Given the description of an element on the screen output the (x, y) to click on. 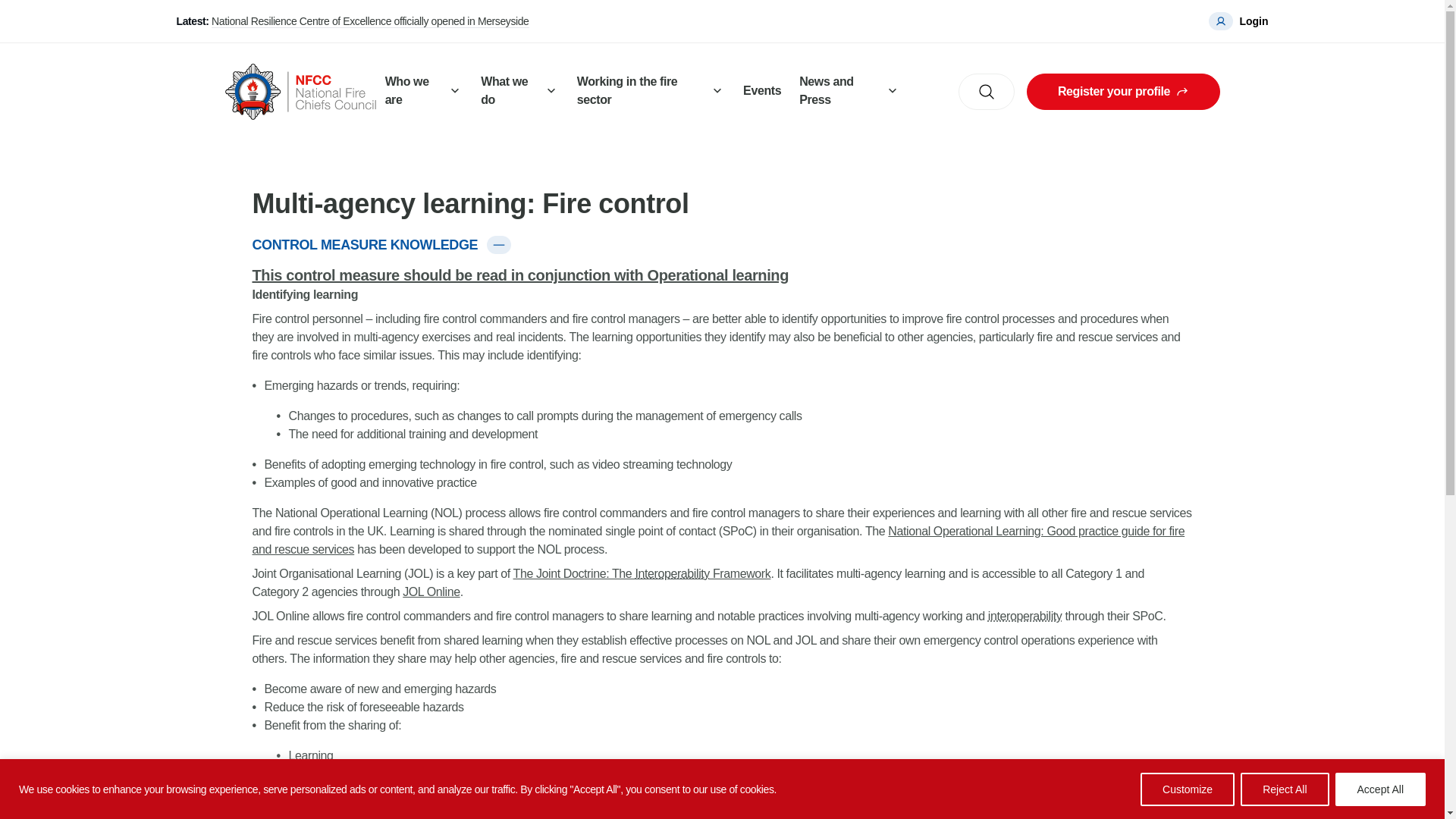
Reject All (1283, 788)
Accept All (1380, 788)
Login (1238, 21)
Customize (1187, 788)
Who we are (423, 91)
Go to the homepage (299, 90)
Login (1238, 21)
